Given the description of an element on the screen output the (x, y) to click on. 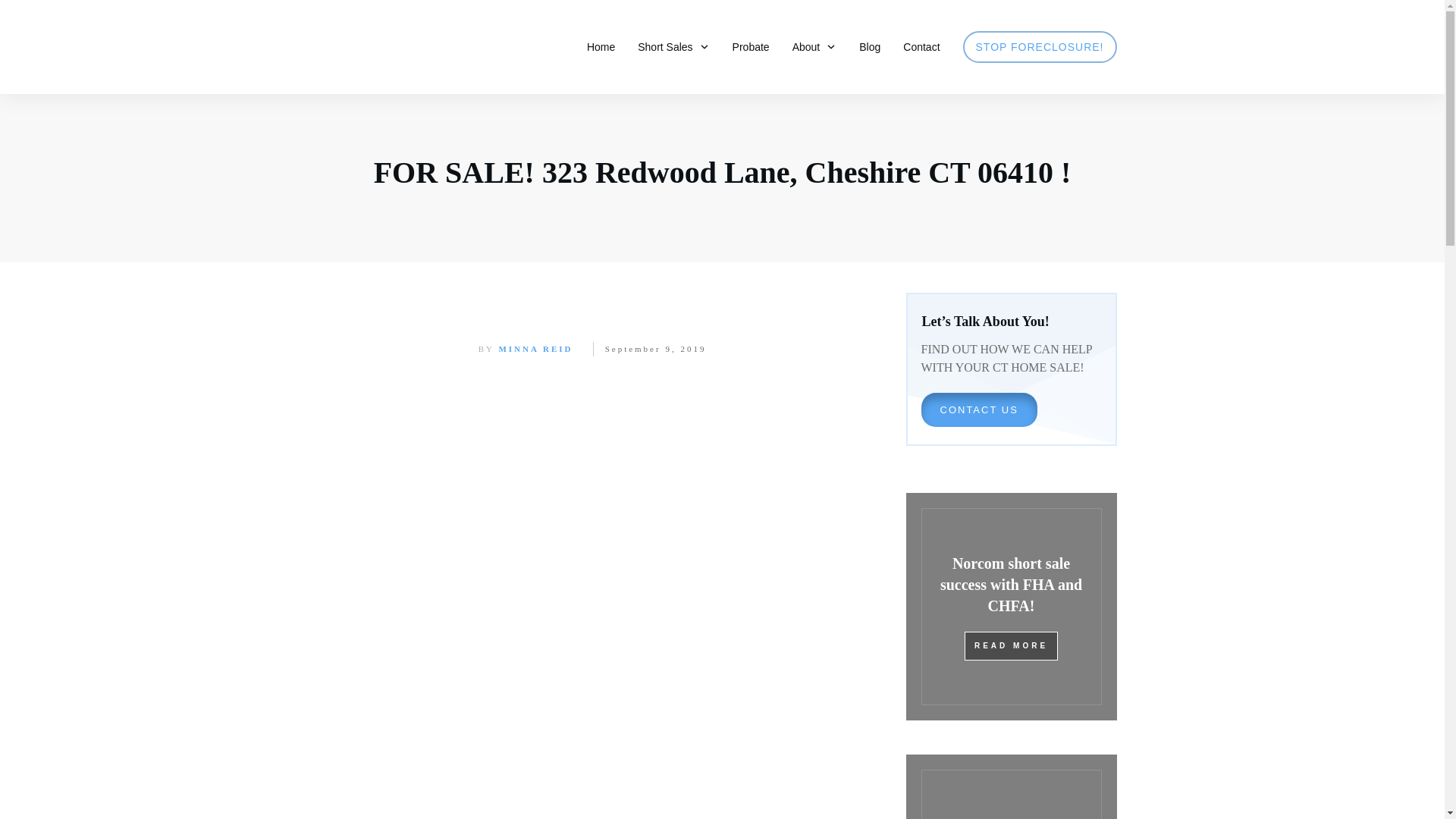
Norcom short sale success with FHA and CHFA! (1010, 584)
READ MORE (1010, 645)
FOR SALE! 323 Redwood Lane, Cheshire CT 06410 ! (722, 172)
MINNA REID (534, 347)
FOR SALE! 323 Redwood Lane, Cheshire CT 06410 ! (722, 172)
Norcom short sale success with FHA and CHFA! (1010, 606)
About (814, 46)
Contact (920, 46)
STOP FORECLOSURE! (1039, 46)
FHA short sale success with PennyMac! (1010, 786)
